Given the description of an element on the screen output the (x, y) to click on. 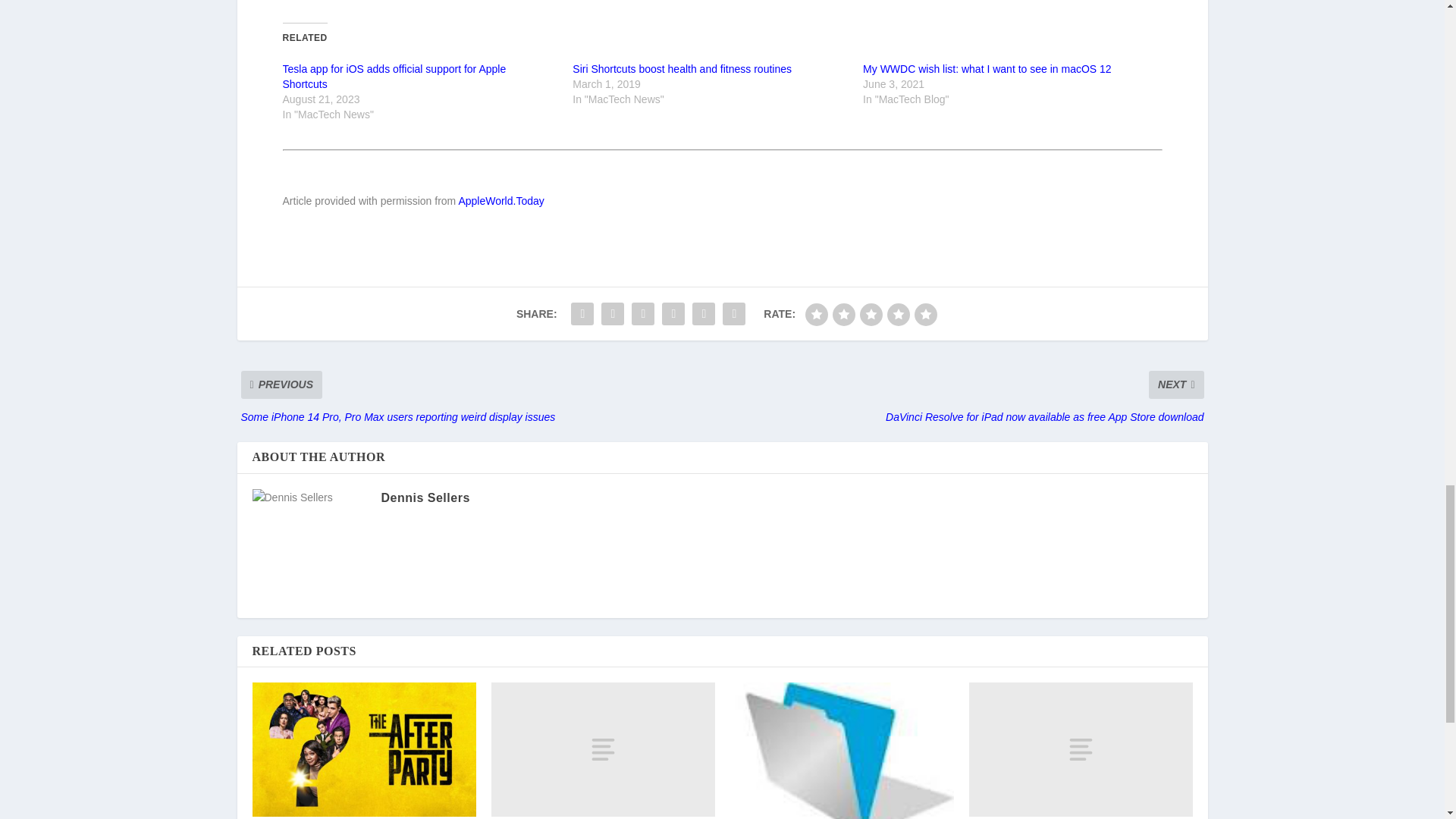
Siri Shortcuts boost health and fitness routines (682, 69)
Tesla app for iOS adds official support for Apple Shortcuts (393, 76)
My WWDC wish list: what I want to see in macOS 12 (987, 69)
